Given the description of an element on the screen output the (x, y) to click on. 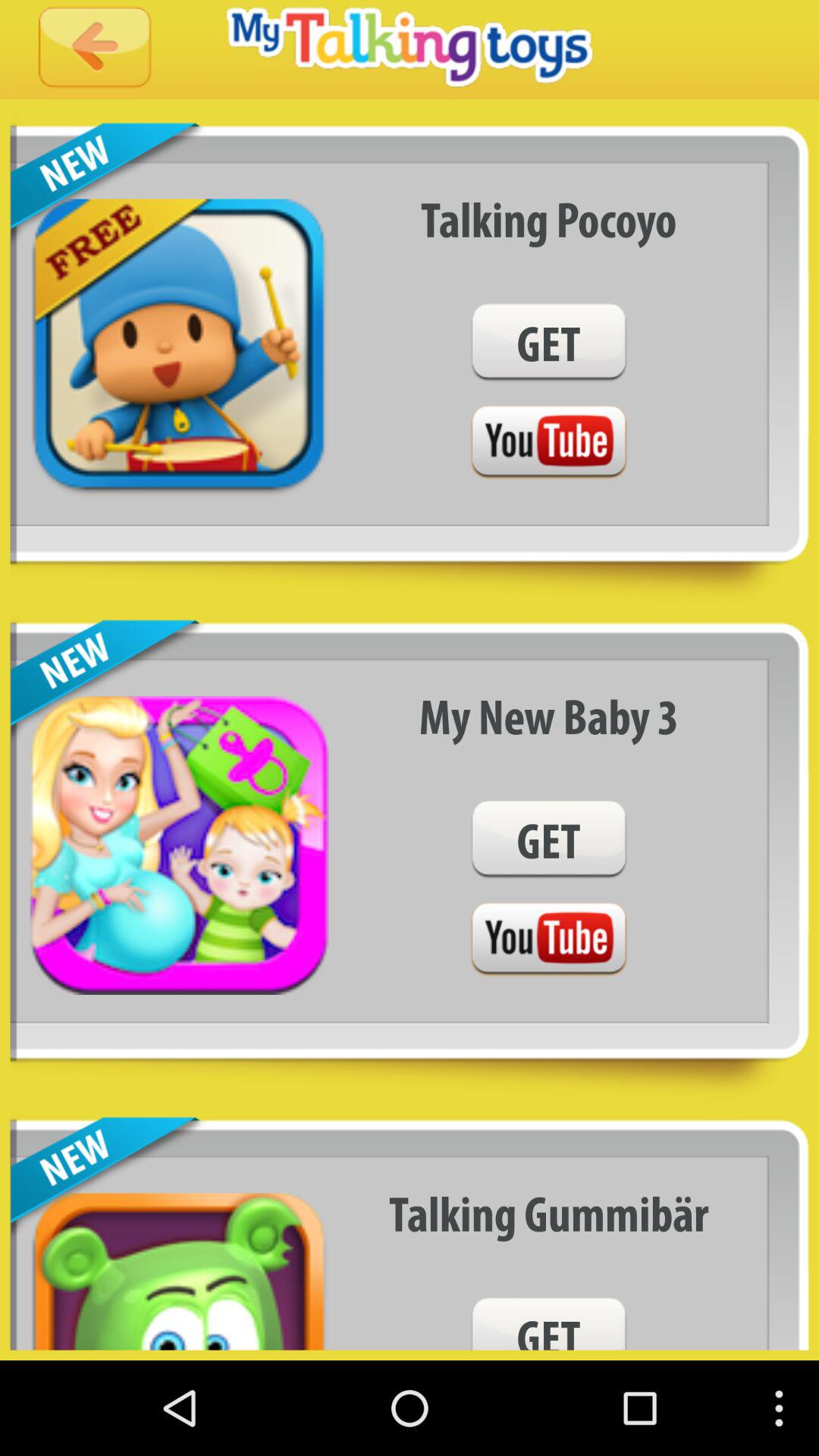
launch talking pocoyo item (548, 218)
